Given the description of an element on the screen output the (x, y) to click on. 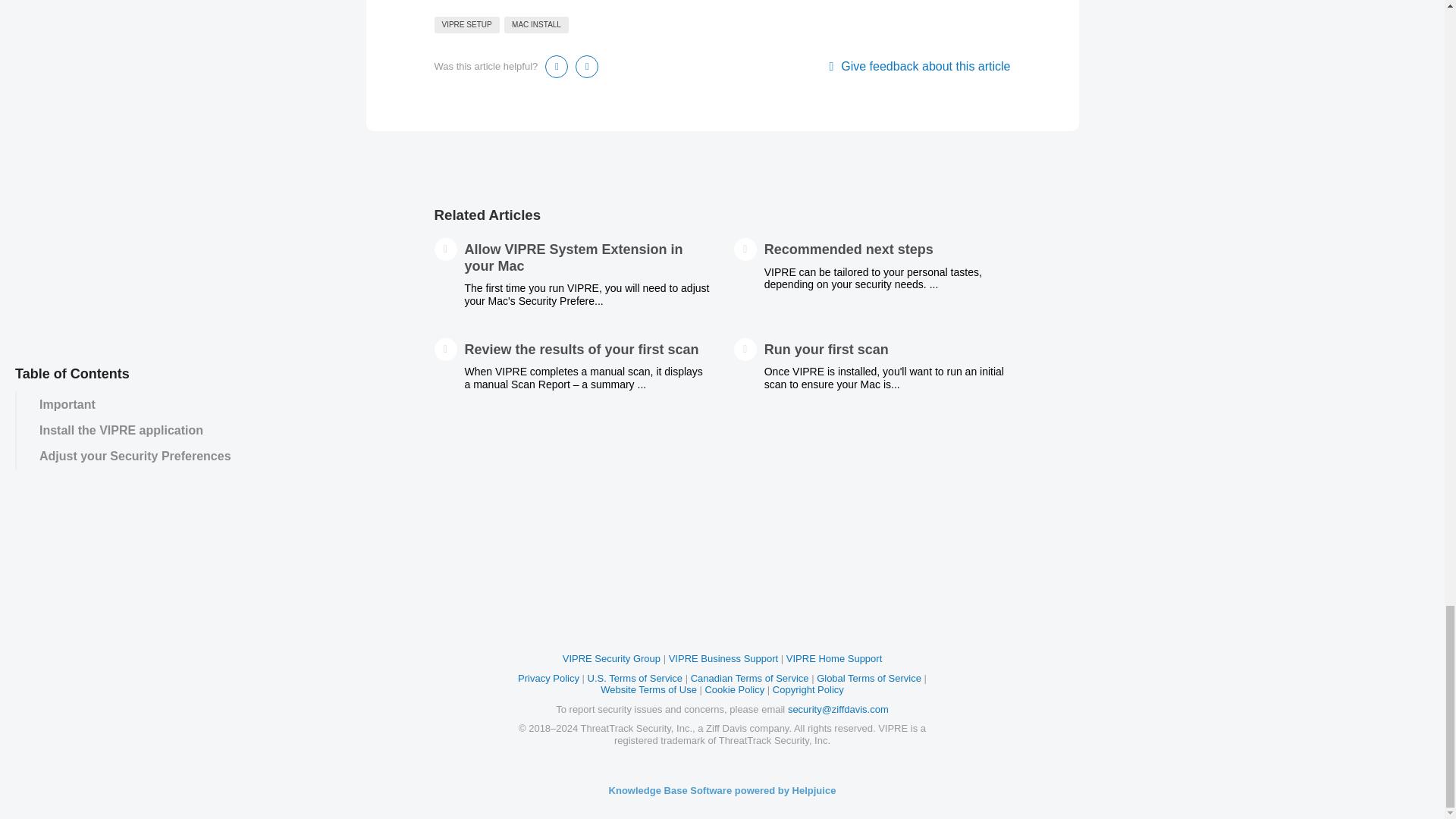
Allow VIPRE System Extension in your Mac (573, 257)
VIPRE Business Support (723, 658)
VIPRE SETUP (466, 24)
Review the results of your first scan (581, 349)
U.S. Terms of Service (635, 677)
VIPRE Home Support (834, 658)
Privacy Policy (548, 677)
Run your first scan (826, 349)
Knowledge Base Software powered by Helpjuice (721, 790)
Copyright Policy (808, 689)
Canadian Terms of Service (749, 677)
Cookie Policy (734, 689)
VIPRE Security Group (611, 658)
Website Terms of Use (648, 689)
Global Terms of Service (868, 677)
